Given the description of an element on the screen output the (x, y) to click on. 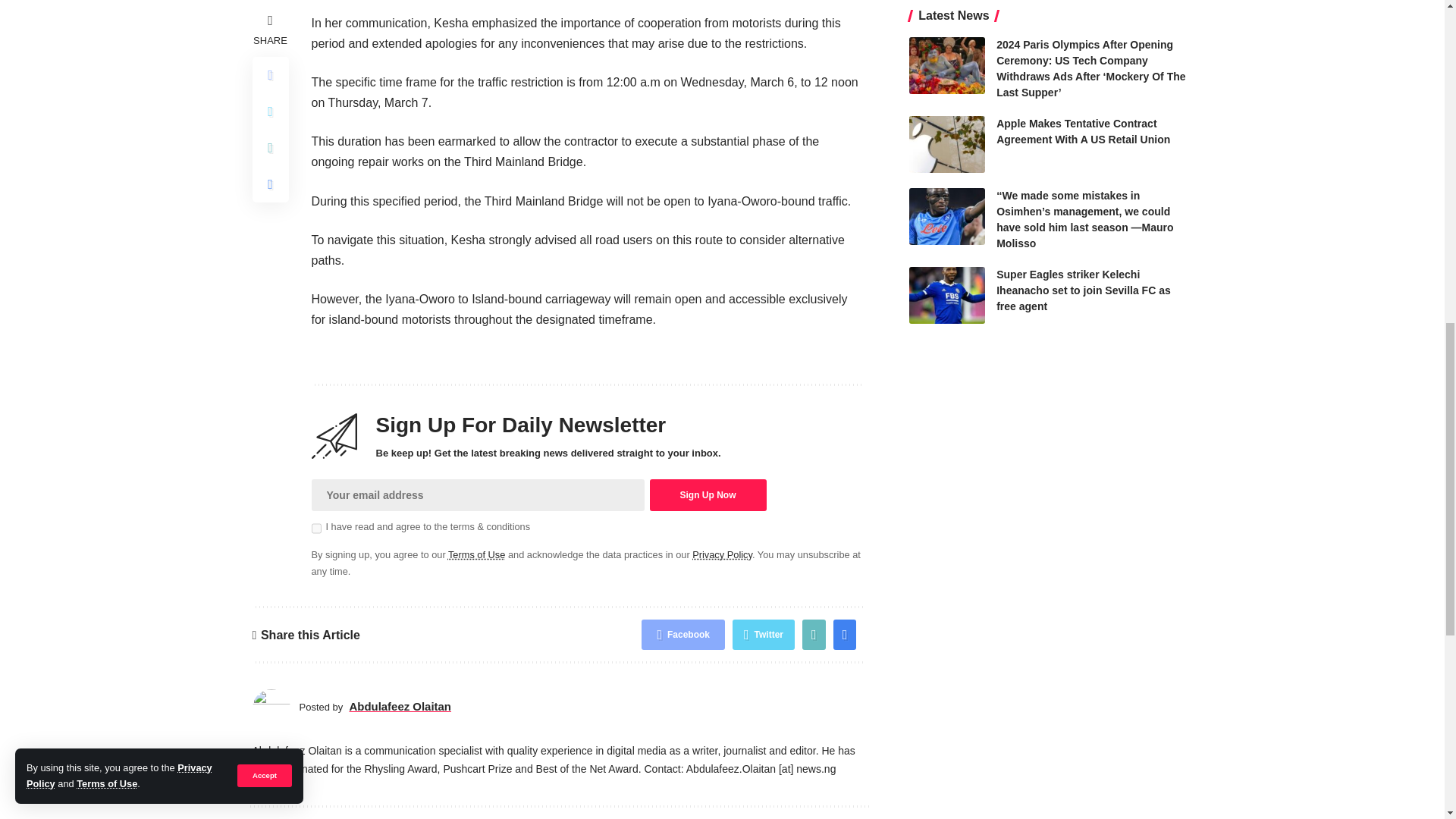
Sign Up Now (707, 495)
